Given the description of an element on the screen output the (x, y) to click on. 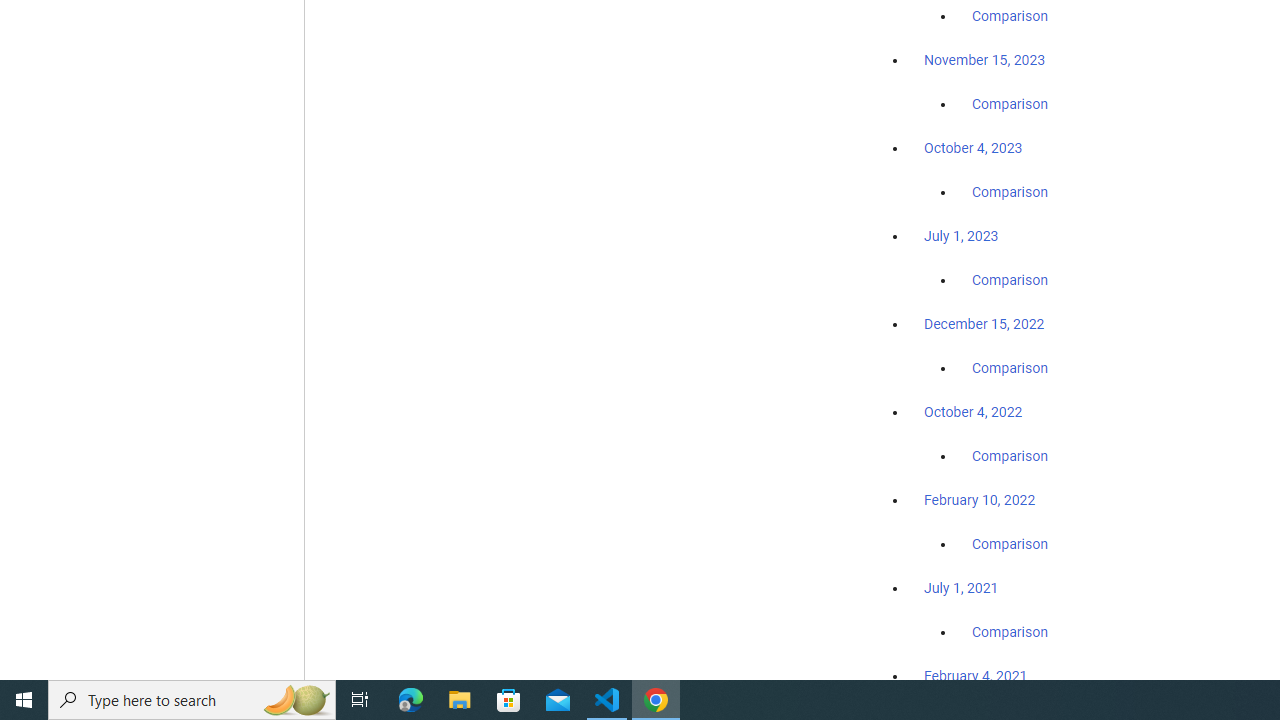
February 4, 2021 (975, 675)
Google Chrome - 1 running window (656, 699)
July 1, 2023 (961, 236)
